Given the description of an element on the screen output the (x, y) to click on. 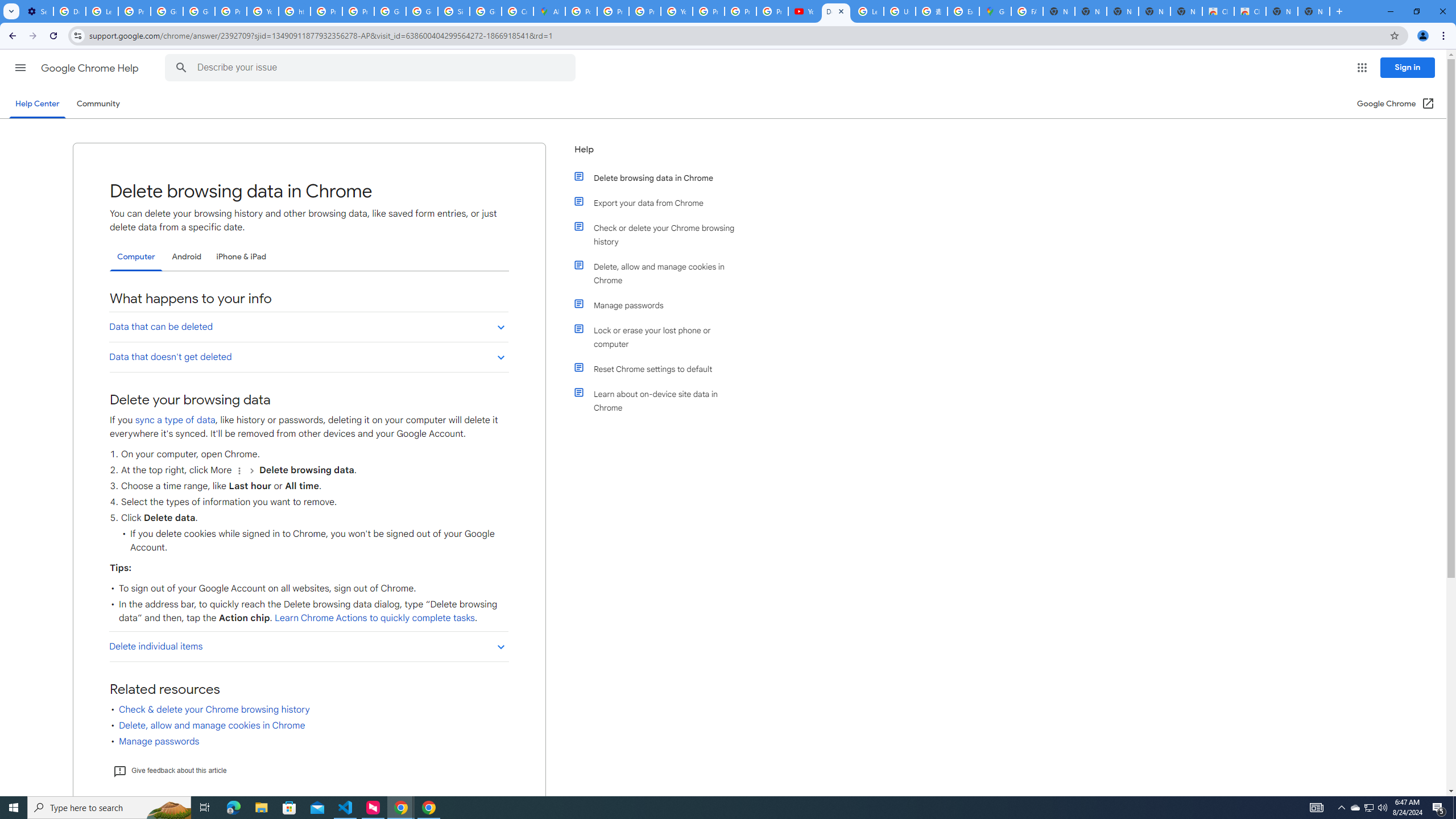
Google Chrome Help (90, 68)
Describe your issue (371, 67)
Data that can be deleted (308, 326)
Sign in - Google Accounts (453, 11)
Privacy Help Center - Policies Help (326, 11)
YouTube (262, 11)
Privacy Help Center - Policies Help (613, 11)
Help Center (36, 103)
Delete photos & videos - Computer - Google Photos Help (69, 11)
Learn Chrome Actions to quickly complete tasks (373, 618)
